Given the description of an element on the screen output the (x, y) to click on. 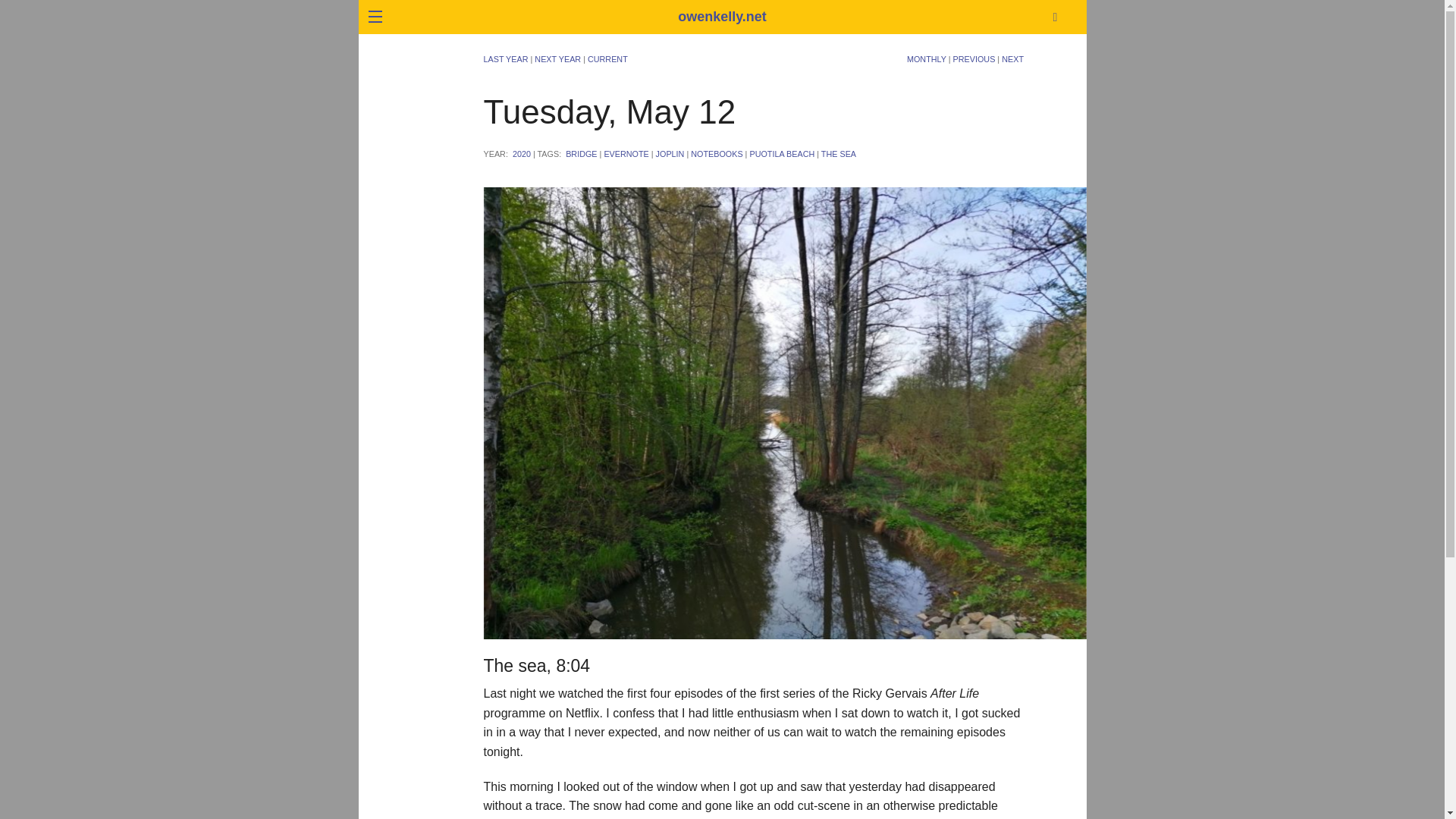
LAST YEAR (505, 58)
MONTHLY (926, 58)
PREVIOUS (974, 58)
Search (1148, 154)
owenkelly.net (722, 16)
Notes (263, 145)
The Time of Day (263, 217)
CURRENT (607, 58)
Projects (263, 181)
About (263, 39)
